Given the description of an element on the screen output the (x, y) to click on. 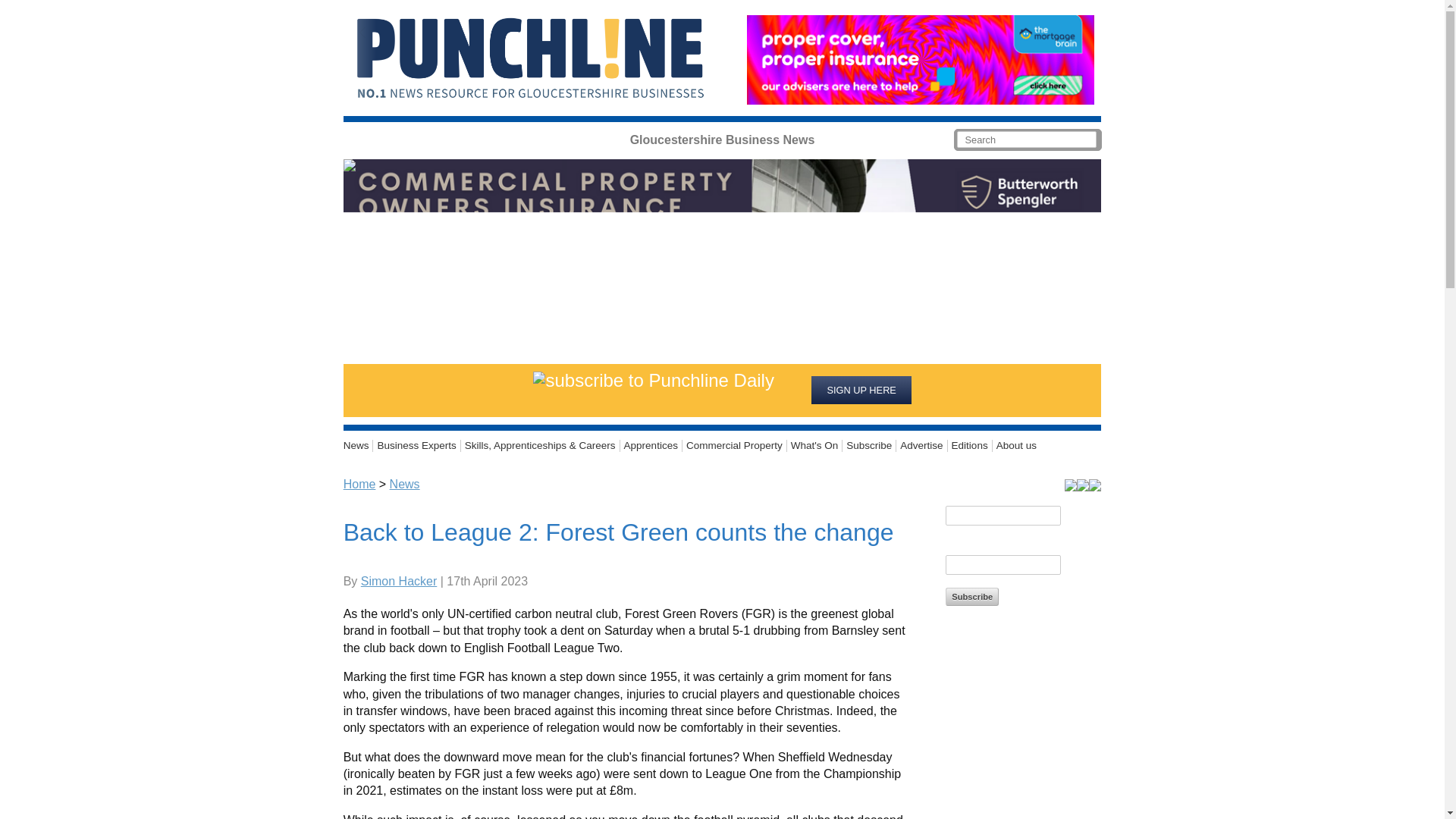
Subscribe (869, 445)
Subscribe (971, 597)
Editions (969, 445)
Business Experts (416, 445)
News (358, 445)
Commercial Property (734, 445)
Simon Hacker (398, 581)
About us (1014, 445)
News (358, 445)
What's On (815, 445)
News (405, 483)
Subscribe (971, 597)
Sign Up Here (860, 389)
Subscribe (869, 445)
